Given the description of an element on the screen output the (x, y) to click on. 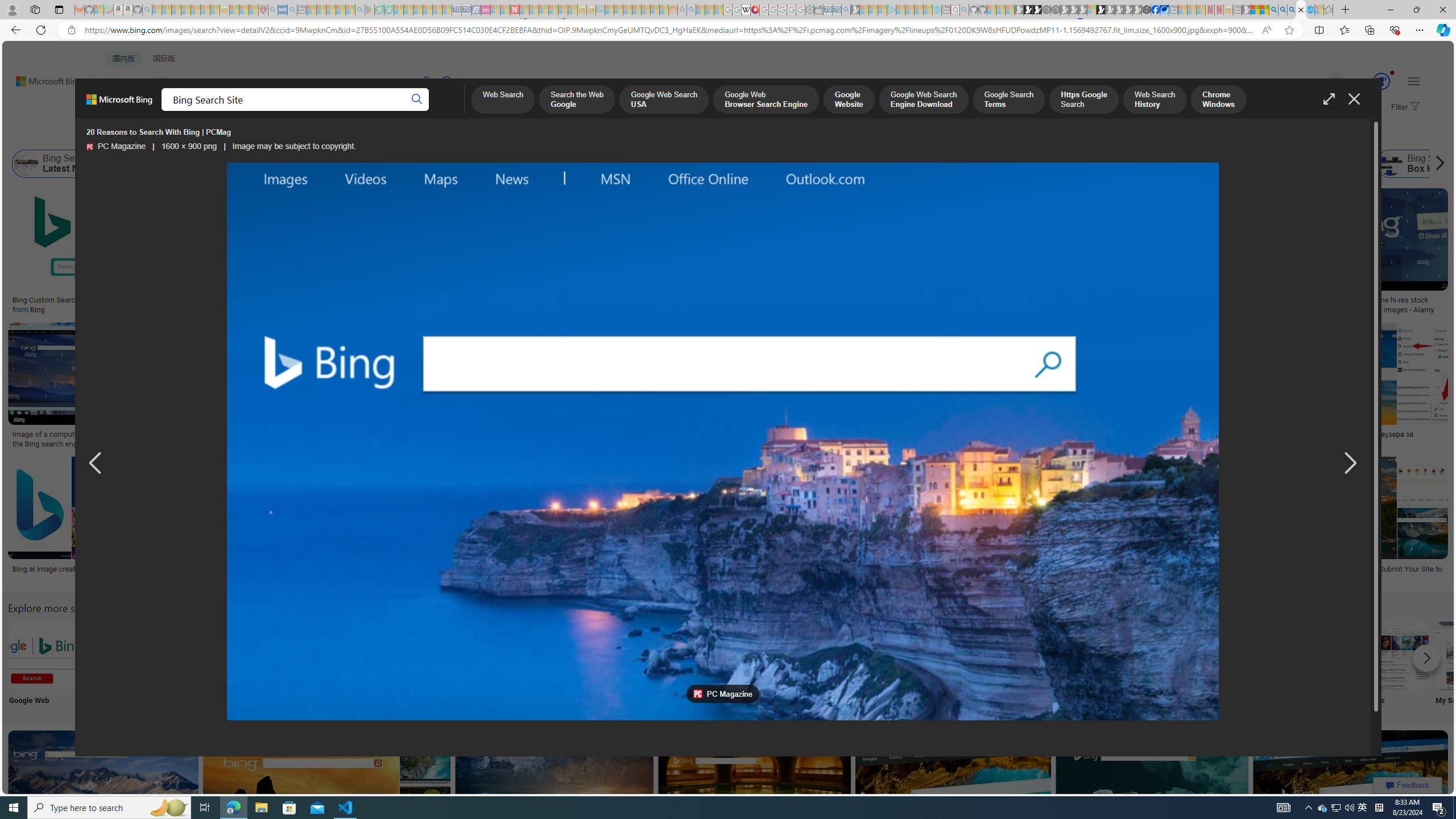
Bing Search App Logo App Logo (118, 665)
Bing Search Tricks (1319, 654)
Search the Web Google (576, 100)
MediaWiki (754, 9)
Who Made Bing Search Engine (974, 163)
Filter (1403, 107)
